Given the description of an element on the screen output the (x, y) to click on. 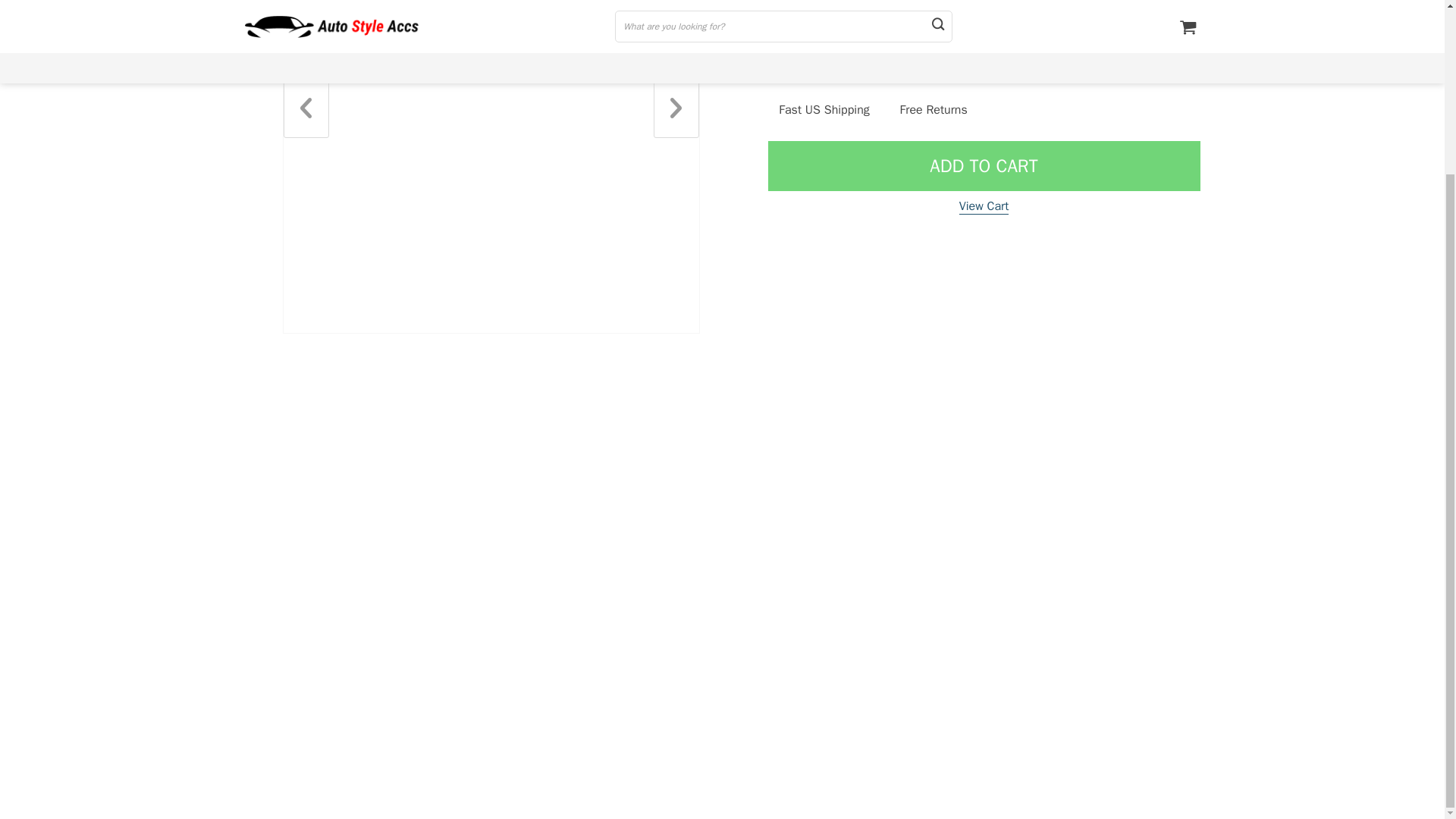
ADD TO CART (983, 165)
1 (873, 48)
